Given the description of an element on the screen output the (x, y) to click on. 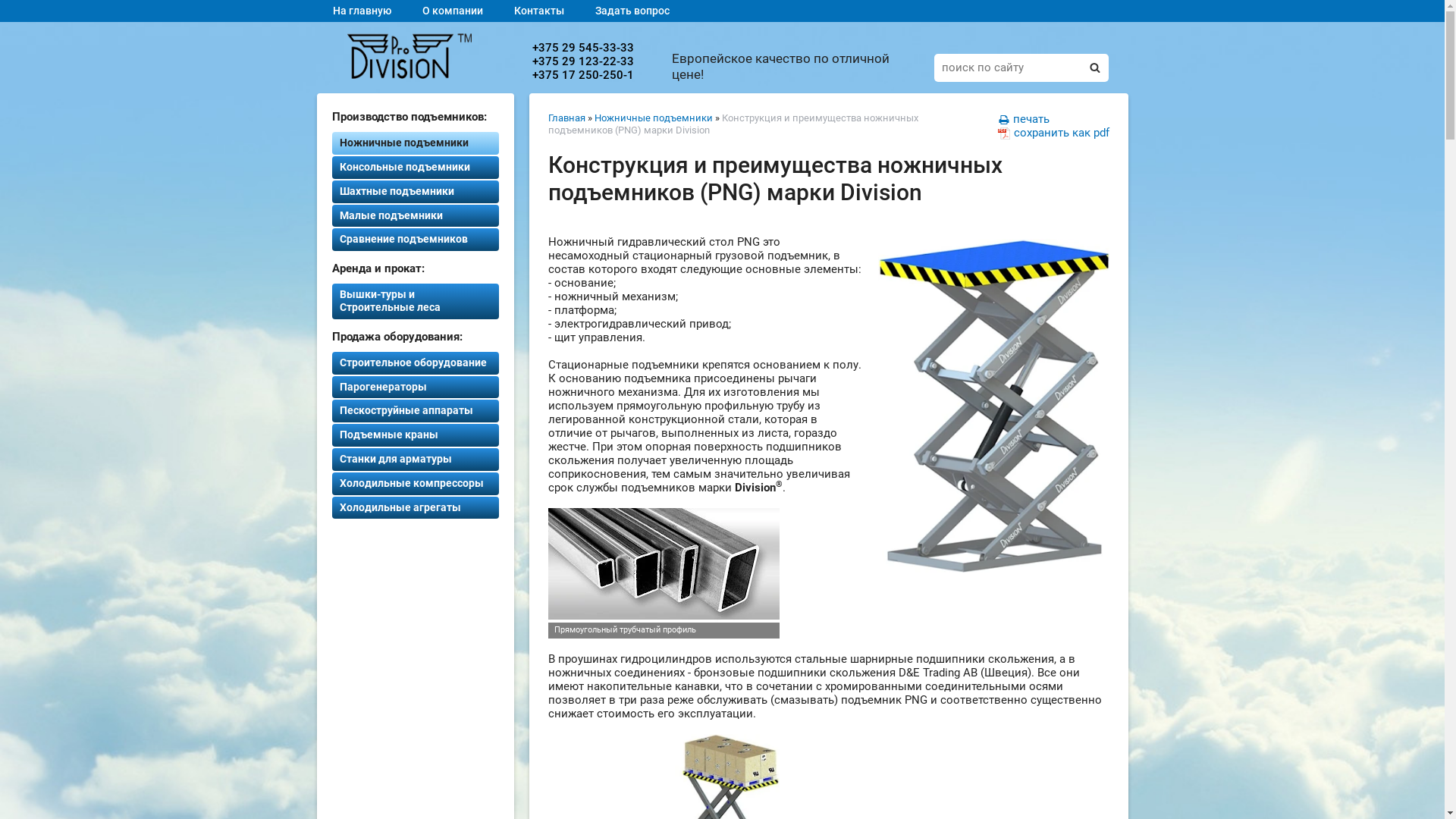
+375 17 250-250-1 Element type: text (582, 74)
+375 29 123-22-33 Element type: text (582, 61)
+375 29 545-33-33 Element type: text (582, 47)
